Given the description of an element on the screen output the (x, y) to click on. 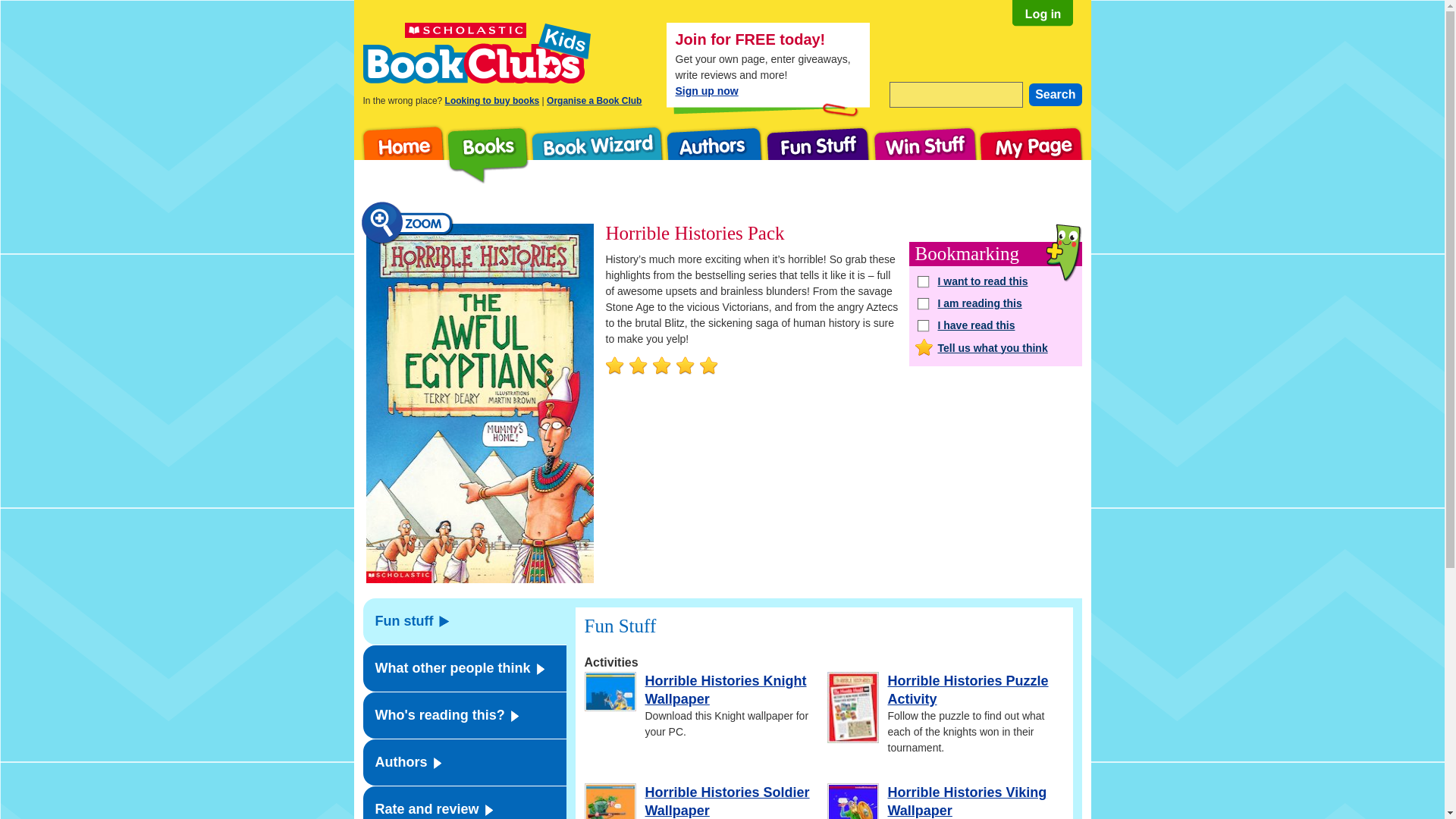
Look inside (478, 403)
Rate and review (464, 802)
Horrible Histories Soldier Wallpaper (727, 801)
Books (487, 154)
Scholastic Book Club (475, 52)
Horrible Histories Viking Wallpaper (966, 801)
Win stuff (925, 154)
Horrible Histories Puzzle Activity (967, 689)
Looking to buy books (492, 100)
What other people think (464, 668)
Fun stuff (464, 621)
Authors (464, 762)
Who's reading this? (464, 715)
I have read this (994, 324)
Horrible Histories Knight Wallpaper (725, 689)
